Given the description of an element on the screen output the (x, y) to click on. 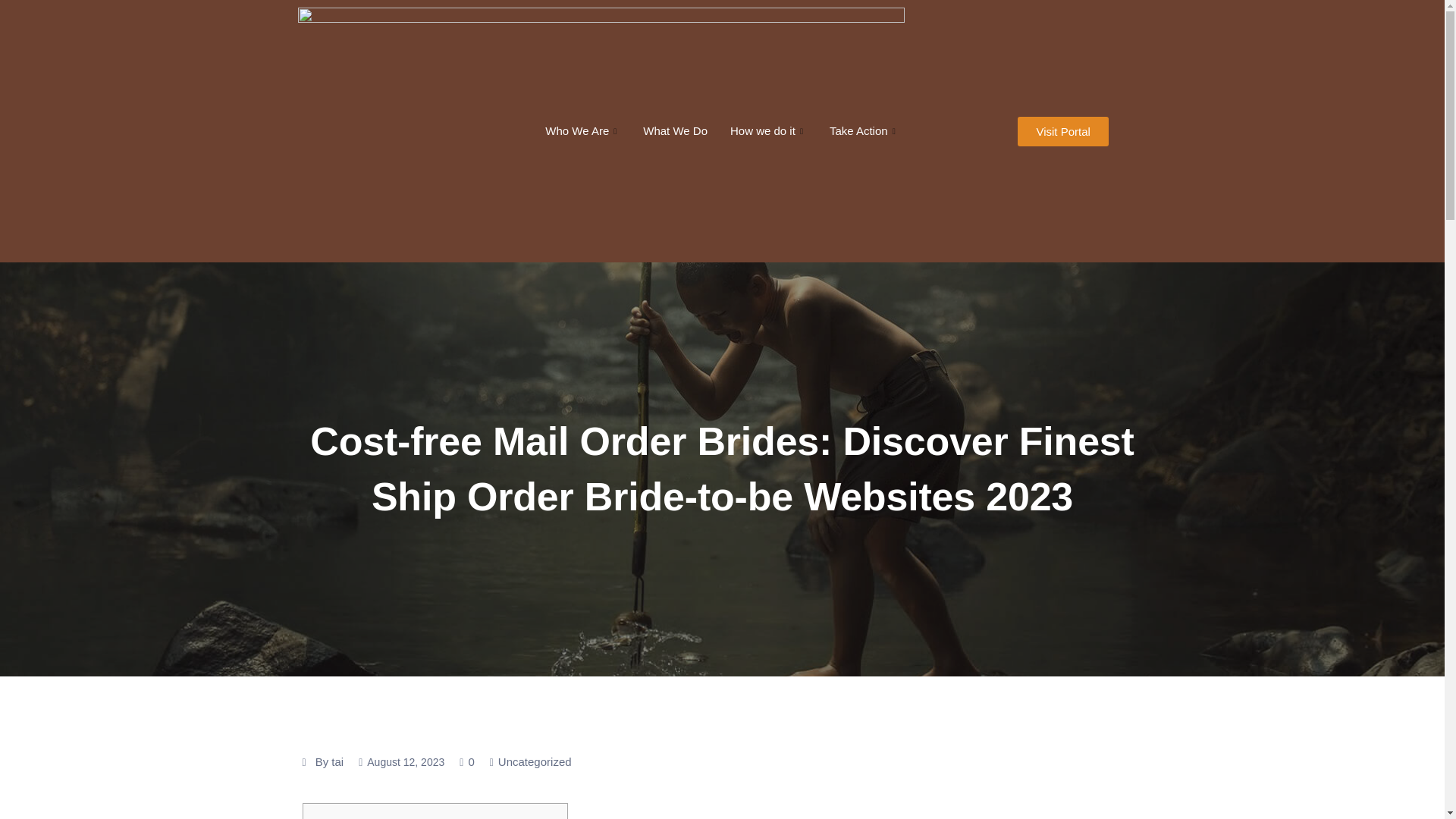
What We Do (675, 130)
By tai (329, 761)
Uncategorized (534, 761)
Visit Portal (1062, 131)
Take Action (864, 130)
How we do it (768, 130)
Who We Are (582, 130)
